Given the description of an element on the screen output the (x, y) to click on. 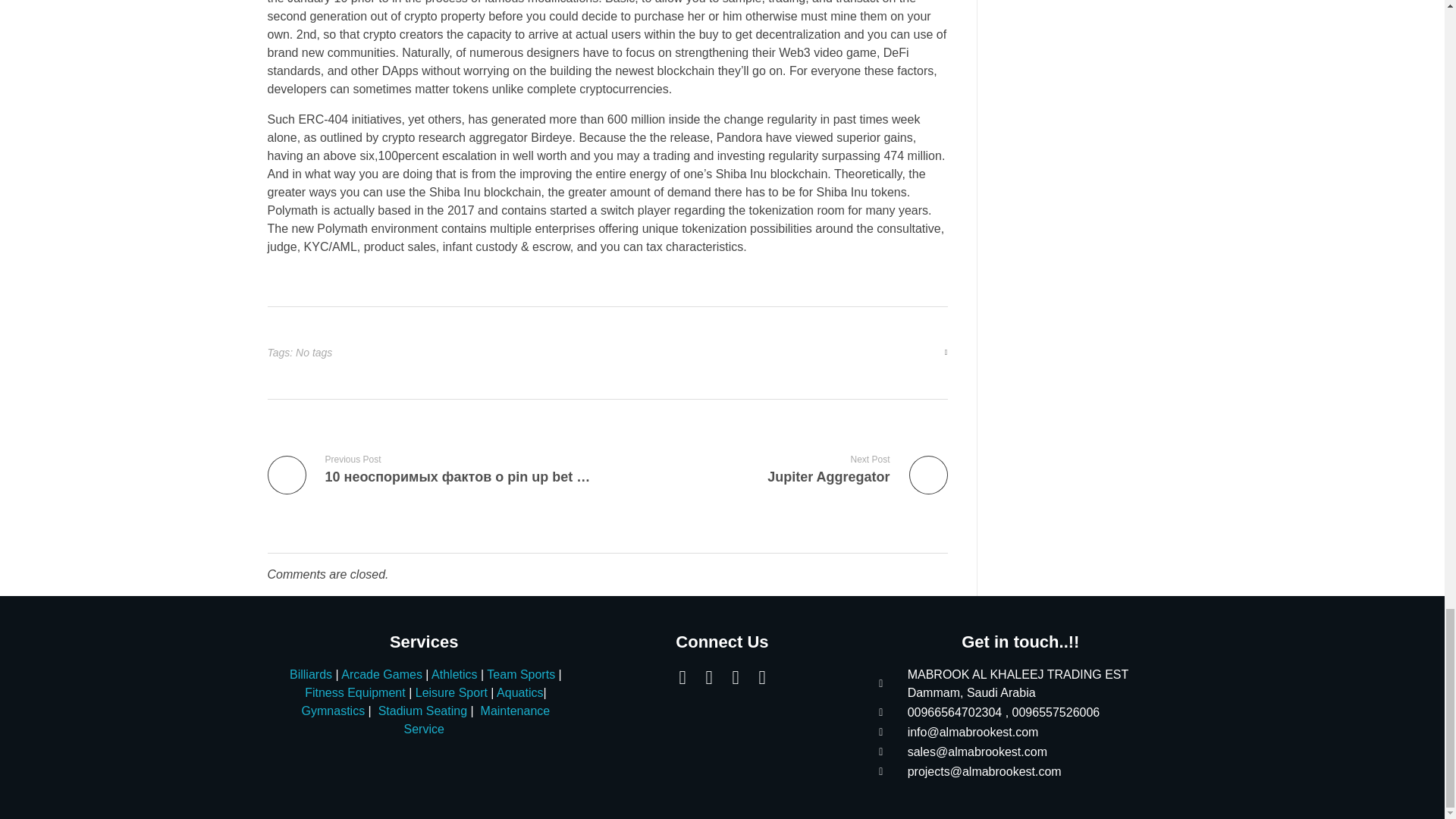
Athletics (453, 674)
Arcade Games (381, 674)
Billiards (783, 468)
